Given the description of an element on the screen output the (x, y) to click on. 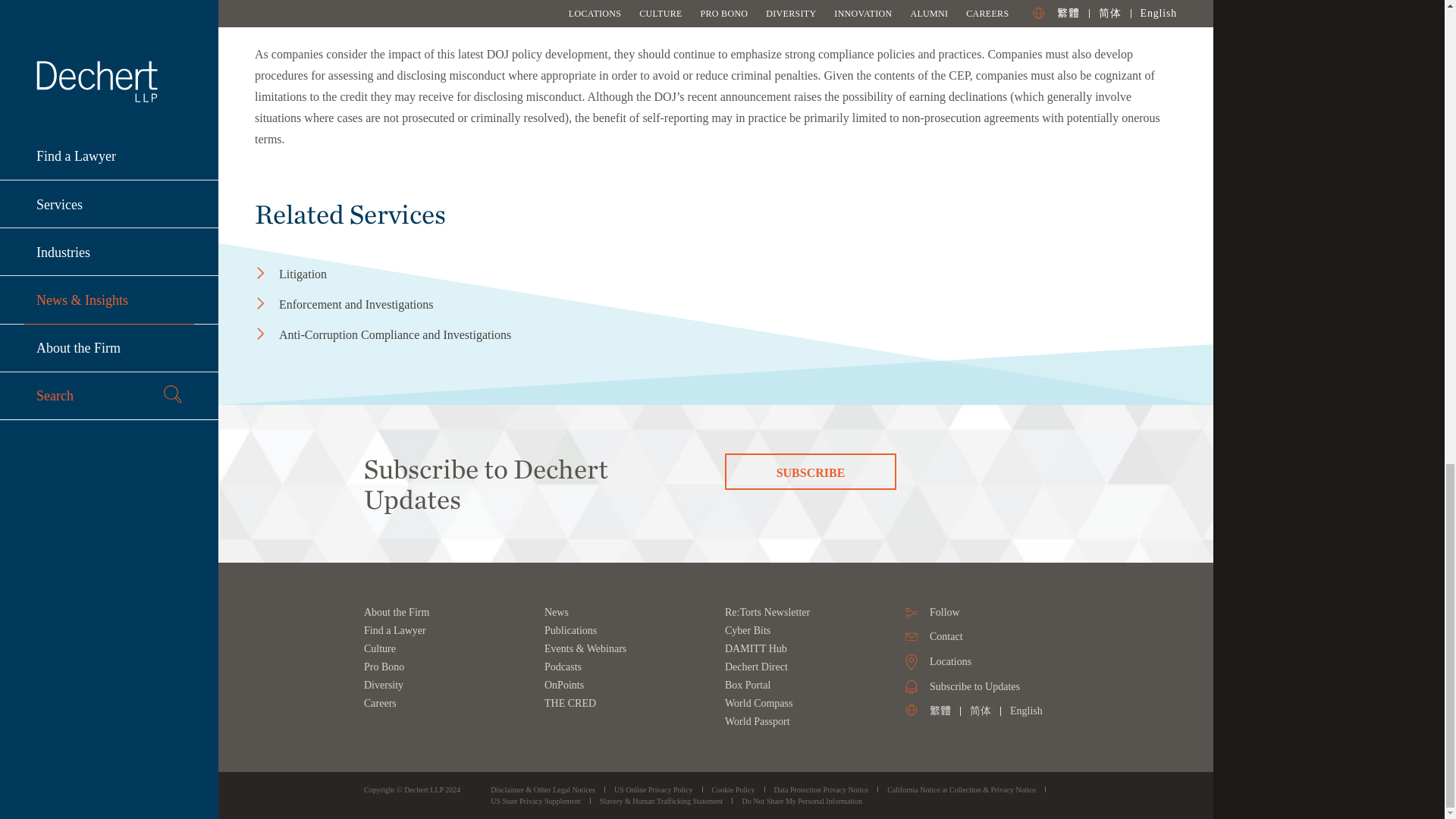
Anti-Corruption Compliance and Investigations (404, 334)
Enforcement and Investigations (404, 304)
SUBSCRIBE (810, 471)
Litigation (404, 274)
Simplified Chinese (980, 710)
Traditional Chinese (940, 710)
